Given the description of an element on the screen output the (x, y) to click on. 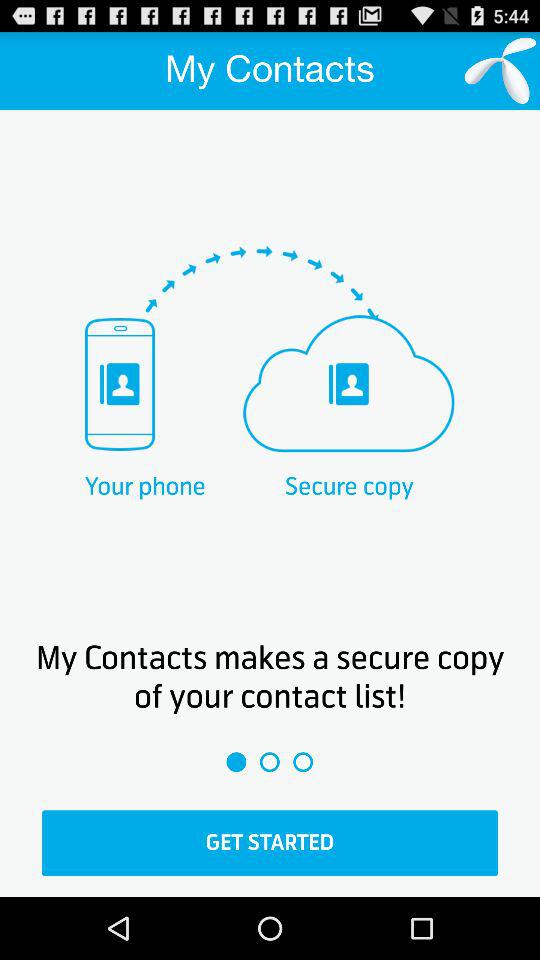
select get started item (269, 843)
